Given the description of an element on the screen output the (x, y) to click on. 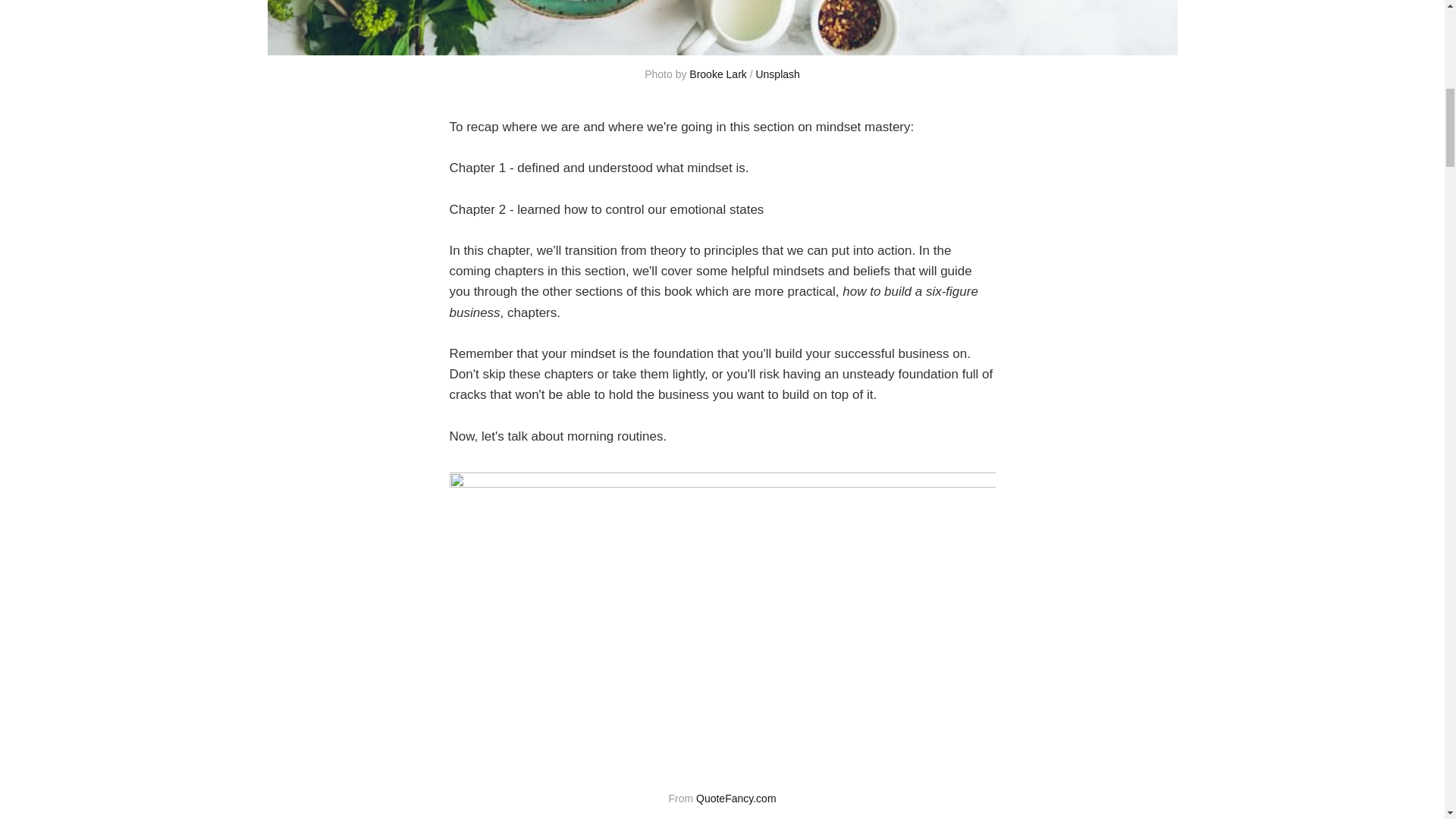
QuoteFancy.com (735, 798)
Unsplash (777, 73)
Brooke Lark (716, 73)
